Given the description of an element on the screen output the (x, y) to click on. 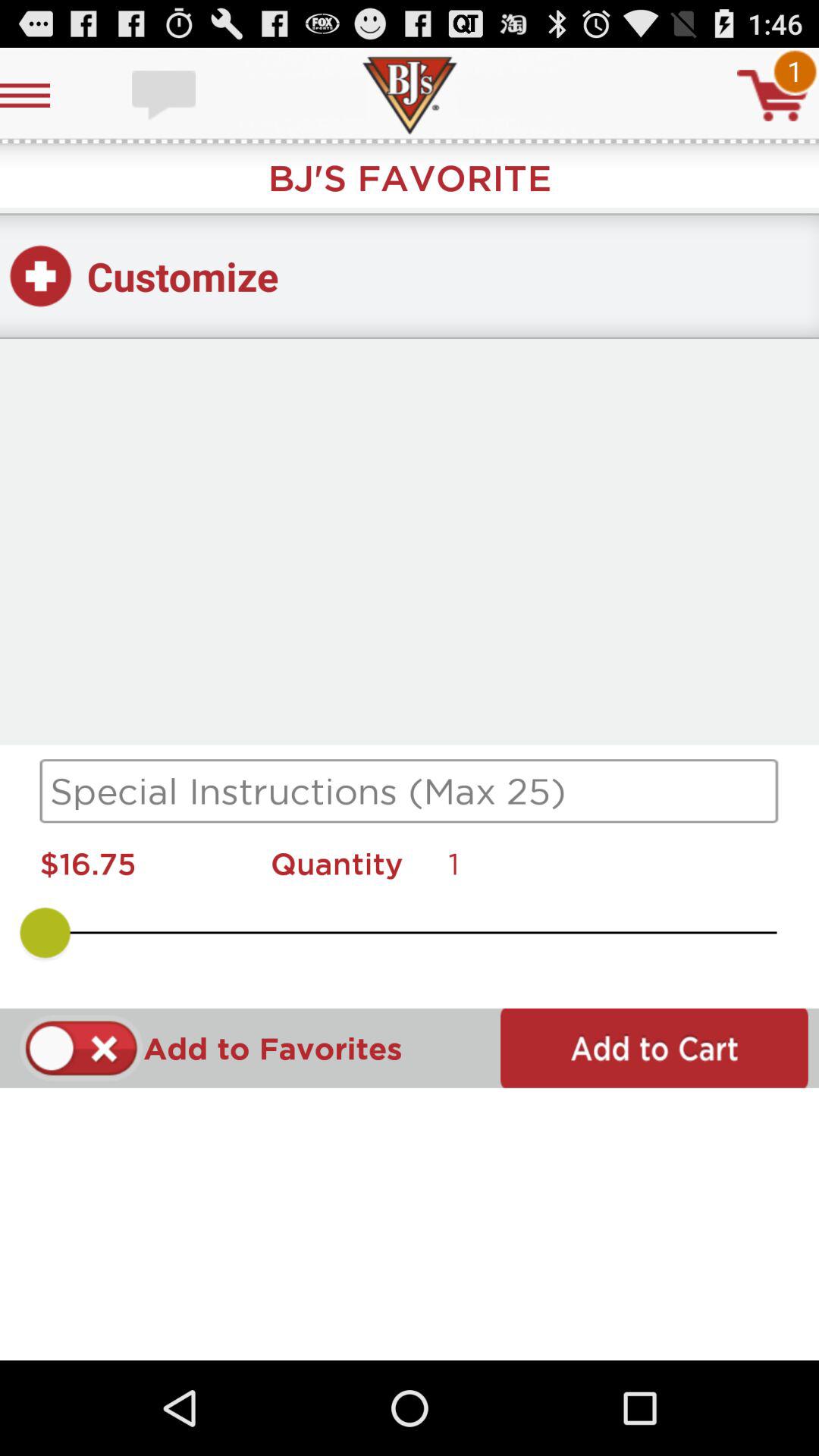
click to close button (81, 1048)
